Given the description of an element on the screen output the (x, y) to click on. 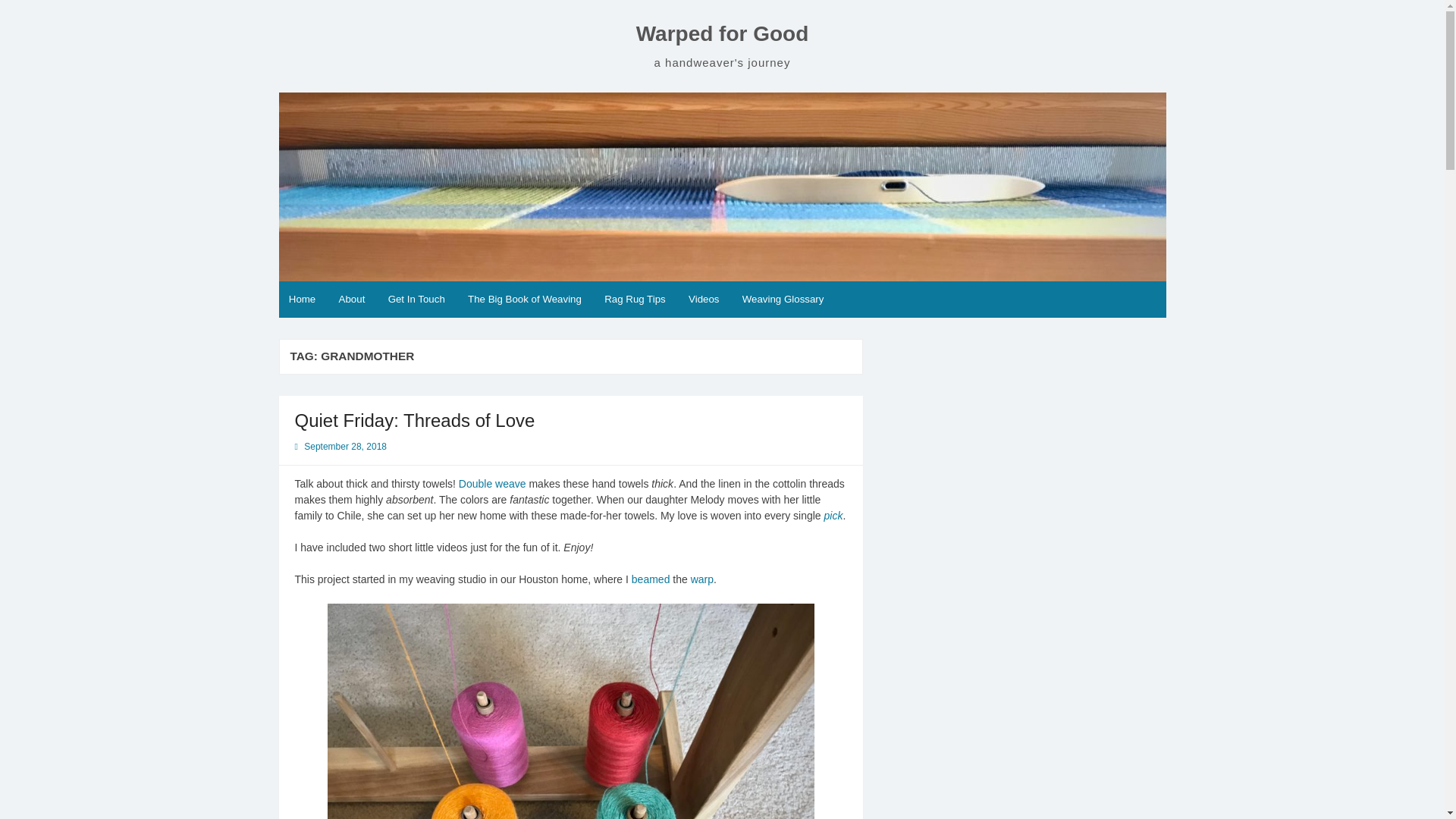
Rag Rug Tips (634, 299)
The Big Book of Weaving (524, 299)
Warped for Good (722, 33)
pick (833, 515)
Weaving Glossary (782, 299)
About (351, 299)
warp (701, 579)
Get In Touch (415, 299)
Quiet Friday: Threads of Love (414, 420)
Double weave (491, 483)
